Given the description of an element on the screen output the (x, y) to click on. 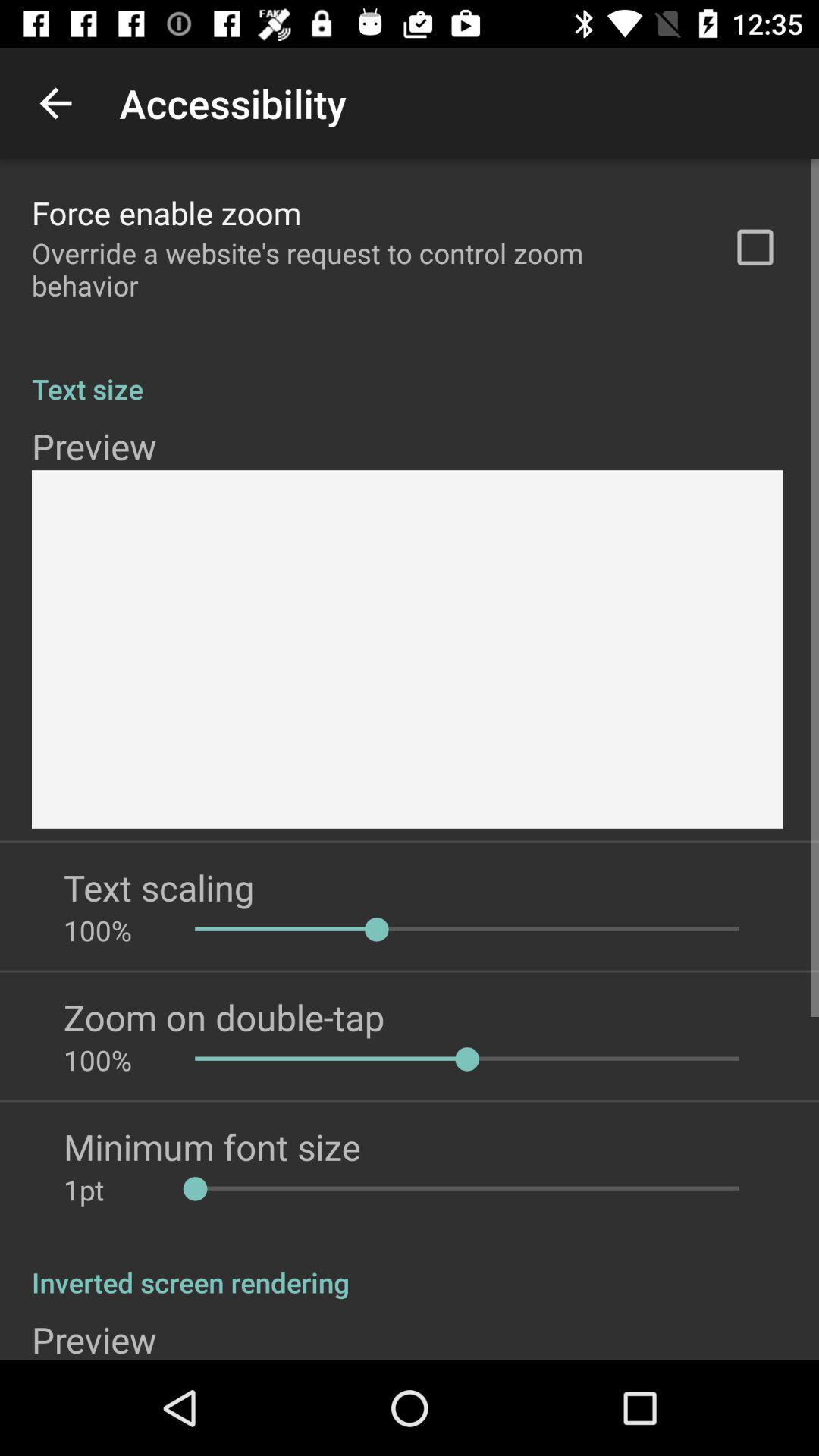
tap item next to override a website icon (755, 247)
